Given the description of an element on the screen output the (x, y) to click on. 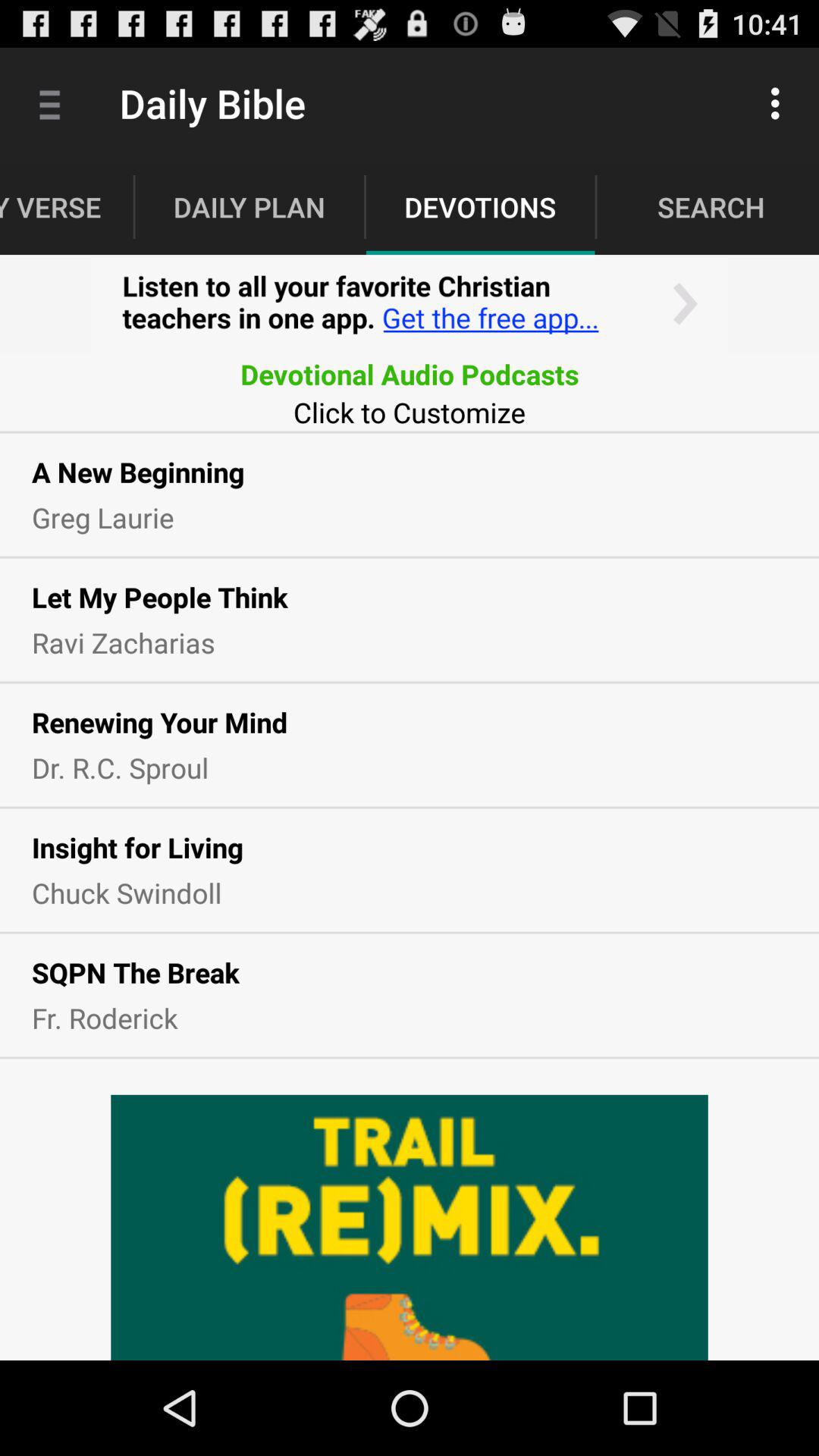
advertisement section (409, 304)
